Given the description of an element on the screen output the (x, y) to click on. 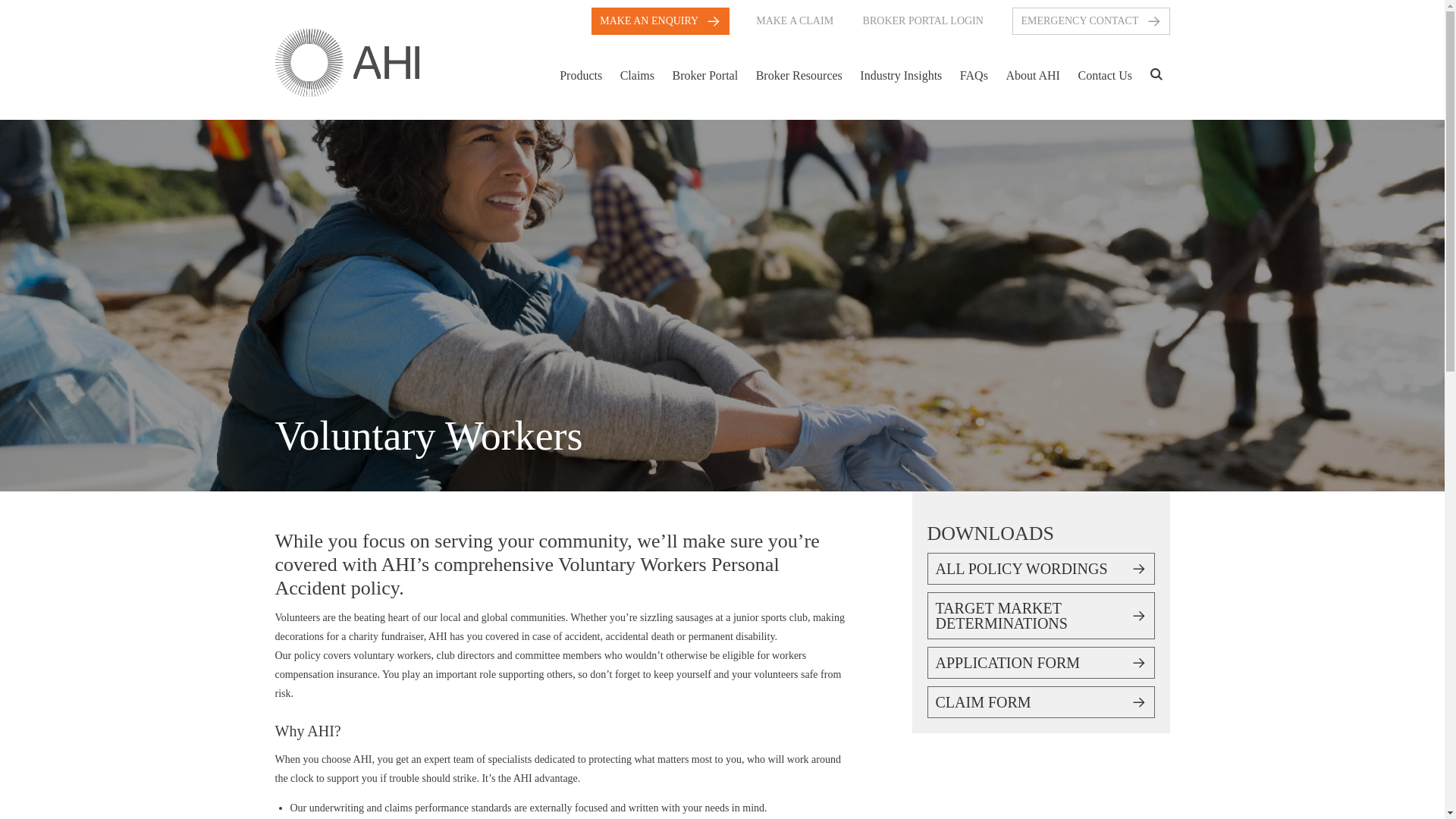
BROKER PORTAL LOGIN (923, 20)
MAKE A CLAIM (793, 20)
MAKE AN ENQUIRY (660, 21)
ALL POLICY WORDINGS (1040, 568)
TARGET MARKET DETERMINATIONS (1040, 615)
APPLICATION FORM (1040, 662)
Contact Us (1105, 83)
About AHI (1032, 83)
EMERGENCY CONTACT (1090, 21)
CLAIM FORM (1040, 702)
Broker Resources (799, 83)
Broker Portal (704, 83)
Industry Insights (900, 83)
